Given the description of an element on the screen output the (x, y) to click on. 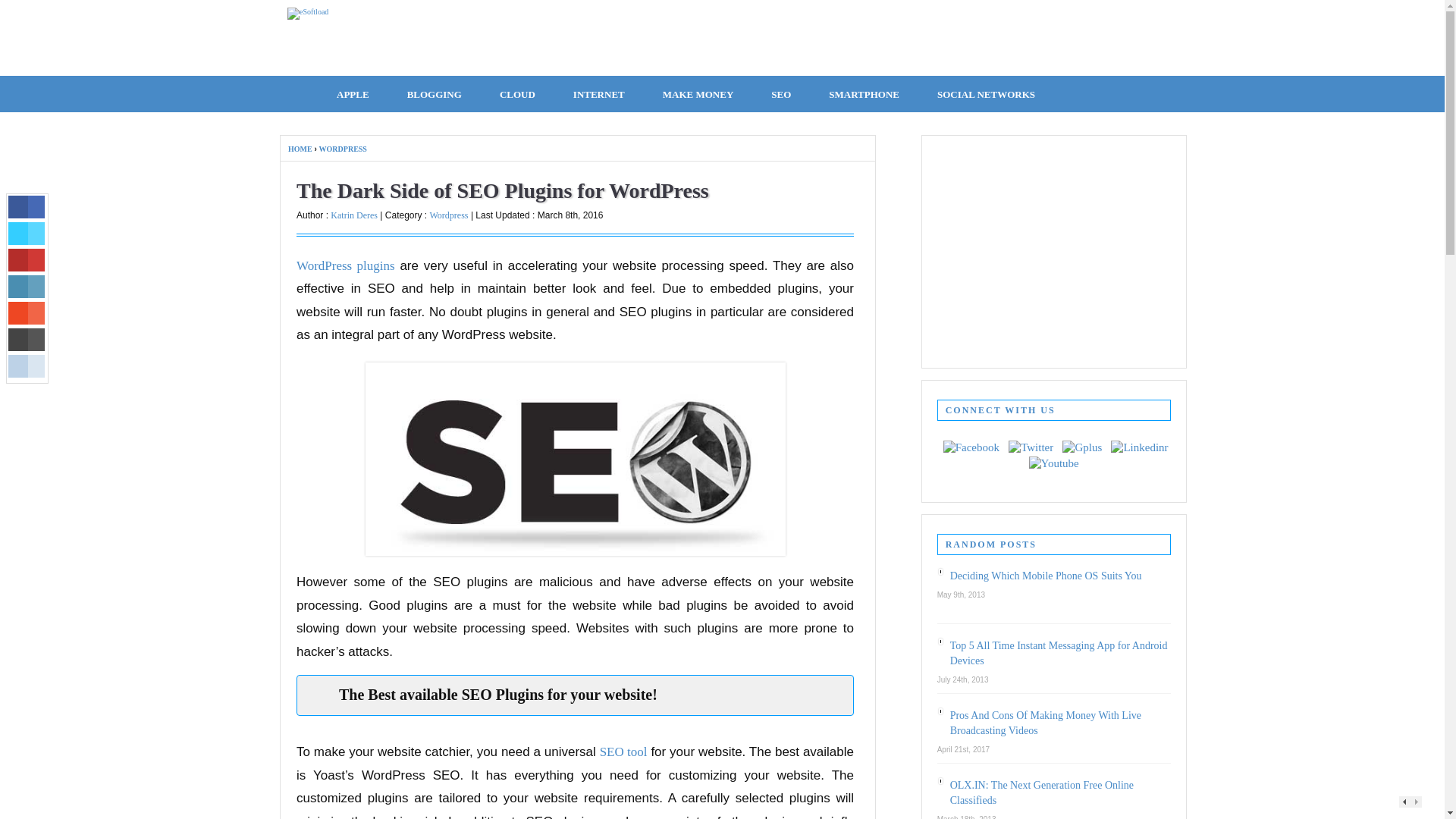
eSoftload : Information You need  (307, 11)
INTERNET (598, 92)
Facebook (26, 206)
SOCIAL NETWORKS (986, 92)
Stumbleupon (26, 313)
Google Disavow Tool: How to Know Which Links to Disavow (623, 751)
Five Plugins To Improve Your Productivity On WordPress (345, 265)
HOME (298, 92)
SEO (780, 92)
LinkedIn (26, 286)
Wordpress (448, 214)
CLOUD (517, 92)
Stumble it (26, 313)
Katrin Deres (353, 214)
SEO tool (623, 751)
